Given the description of an element on the screen output the (x, y) to click on. 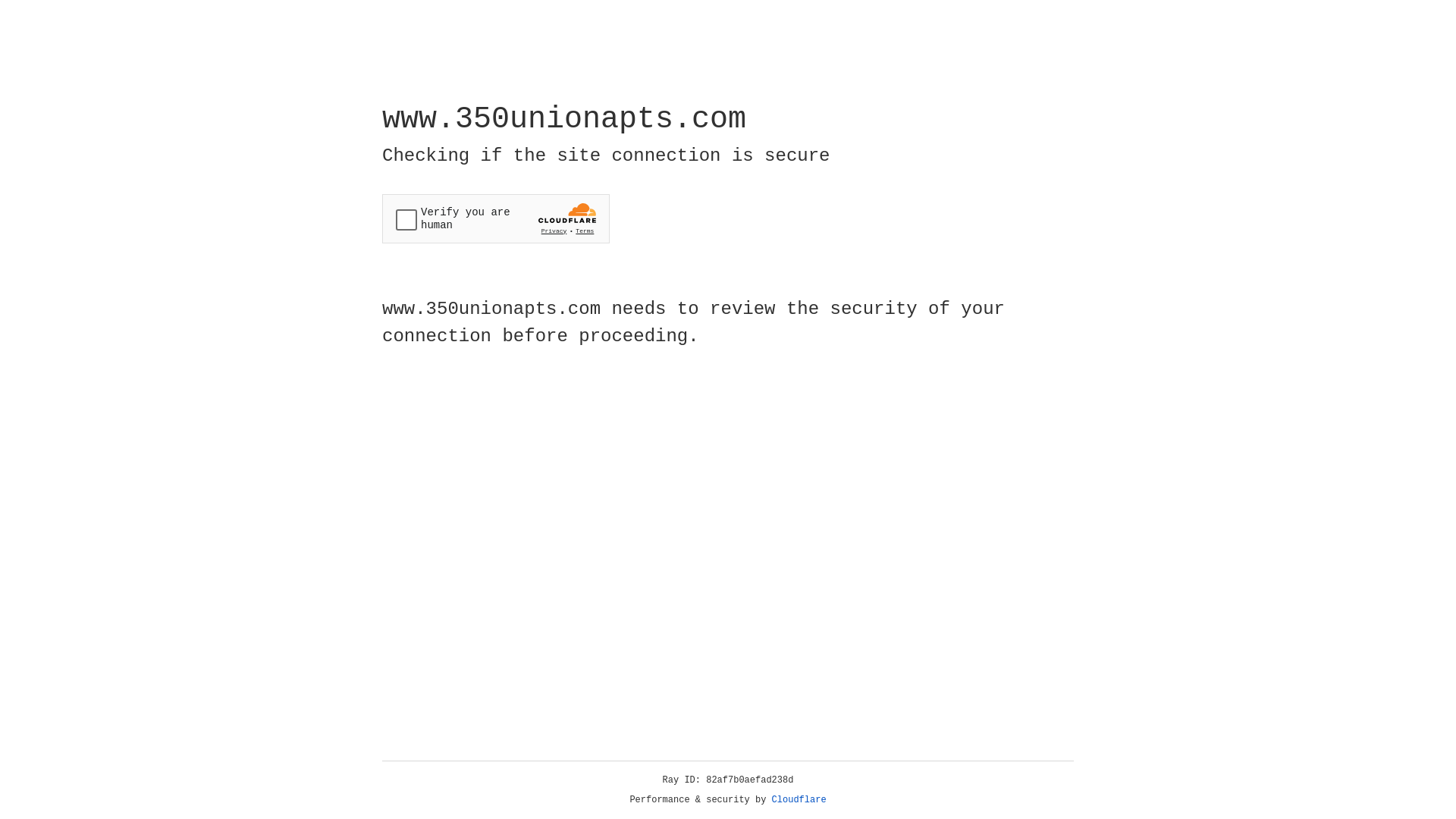
Cloudflare Element type: text (798, 799)
Widget containing a Cloudflare security challenge Element type: hover (495, 218)
